Given the description of an element on the screen output the (x, y) to click on. 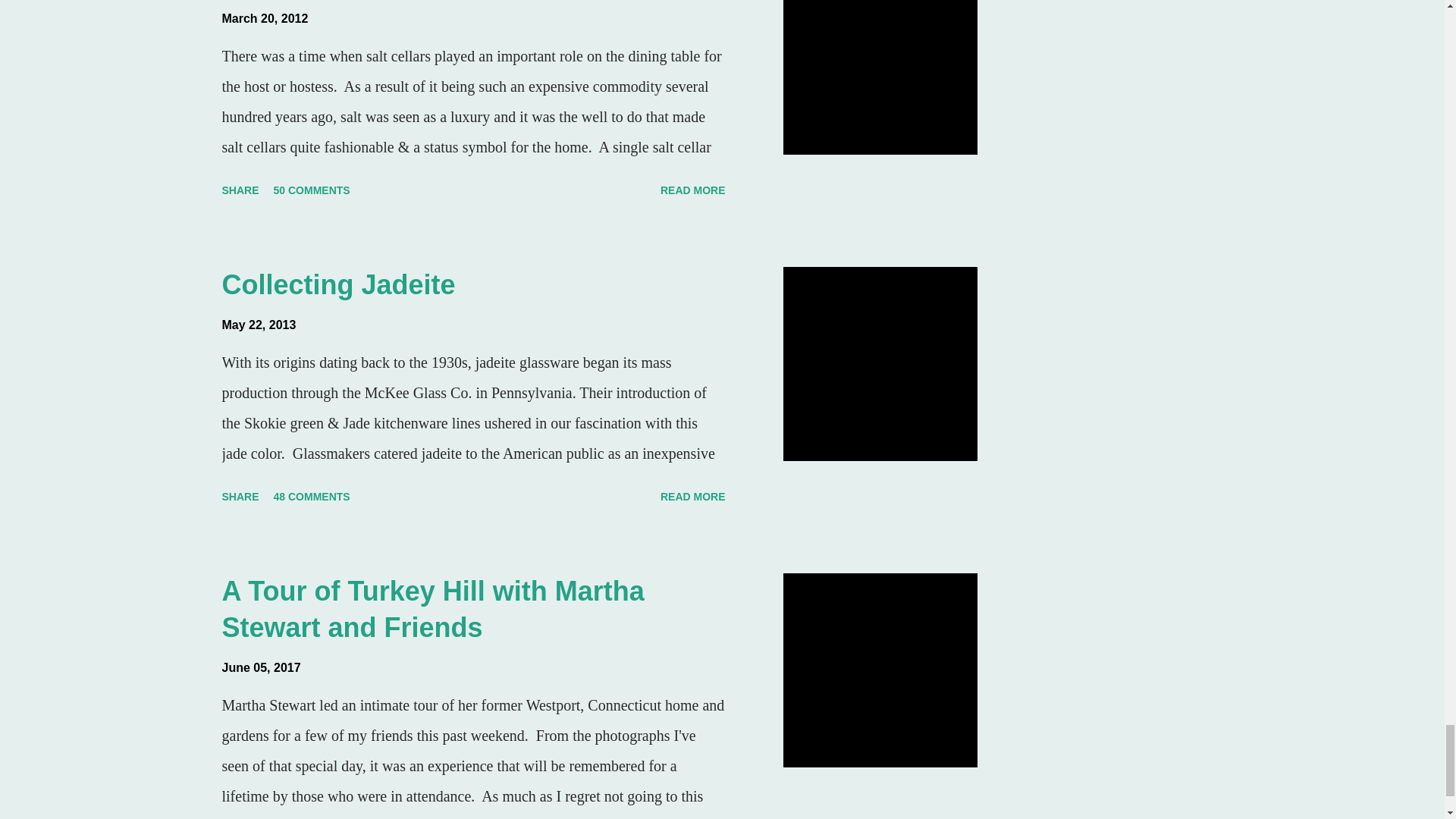
permanent link (264, 18)
